Given the description of an element on the screen output the (x, y) to click on. 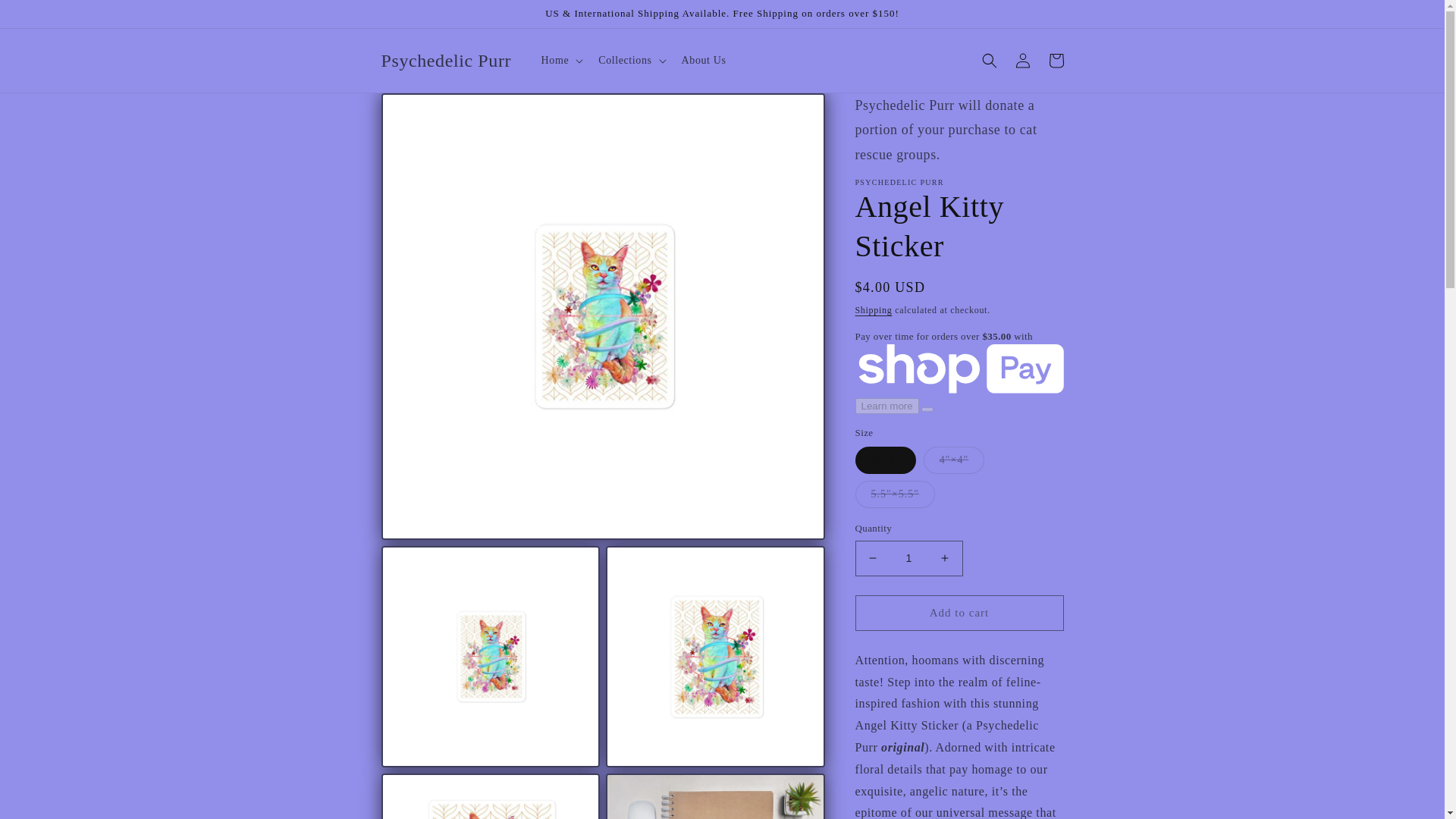
Skip to content (45, 17)
Skip to product information (426, 109)
Psychedelic Purr (445, 60)
1 (908, 558)
Log in (1022, 60)
Cart (1055, 60)
About Us (703, 60)
